Given the description of an element on the screen output the (x, y) to click on. 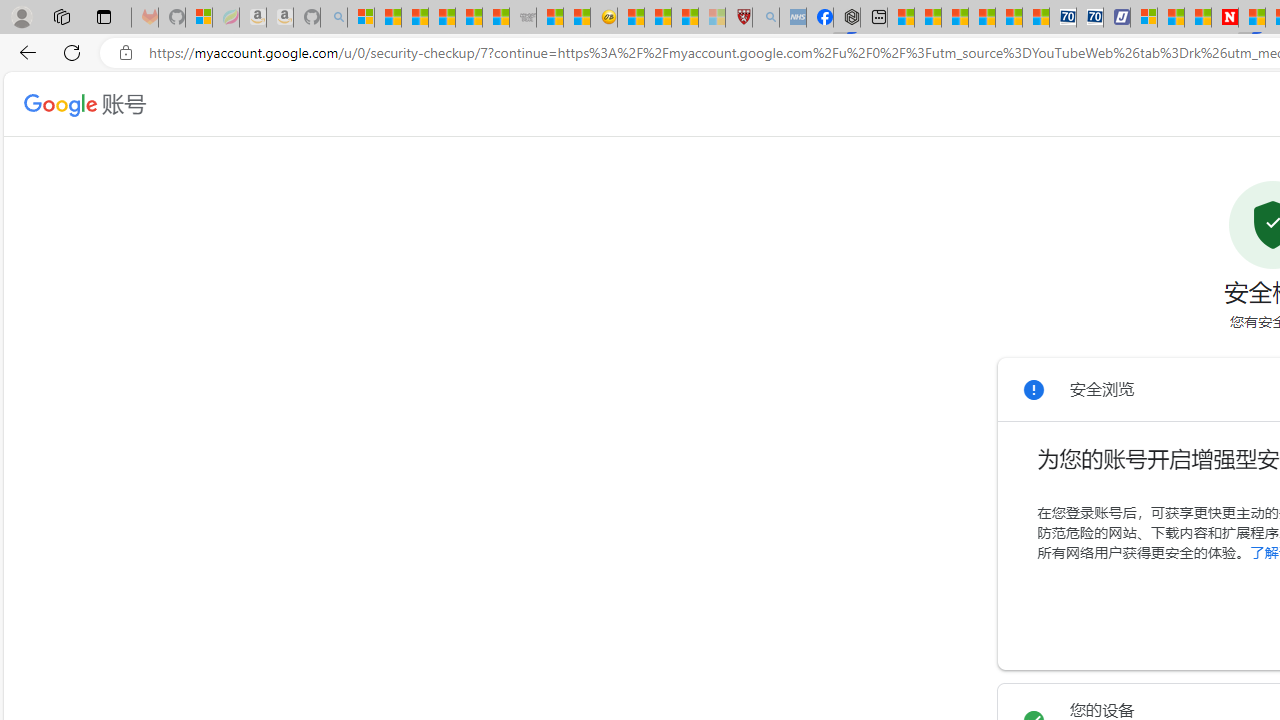
Recipes - MSN (630, 17)
Cheap Hotels - Save70.com (1089, 17)
